Given the description of an element on the screen output the (x, y) to click on. 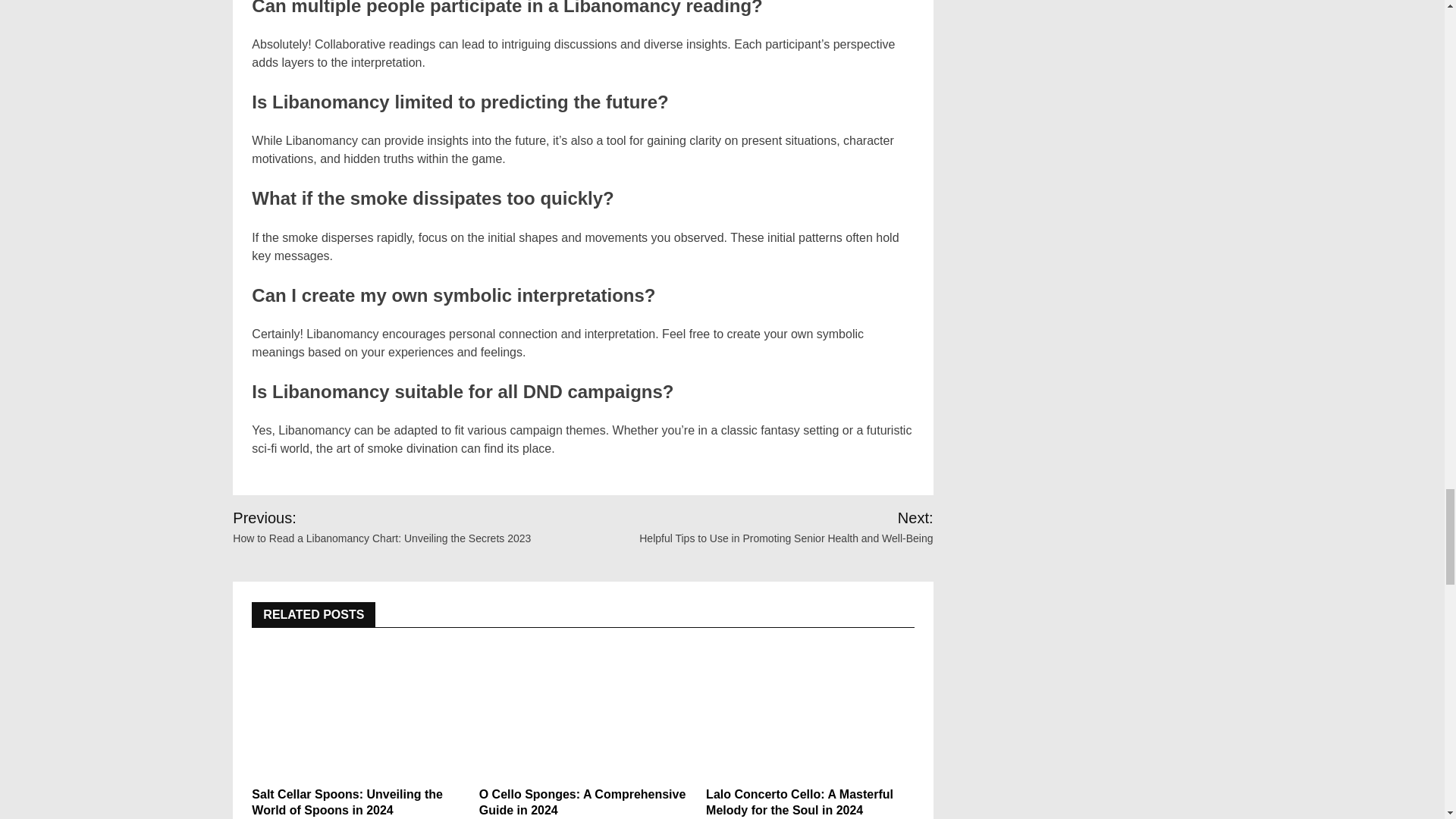
O Cello Sponges: A Comprehensive Guide in 2024 (583, 708)
Lalo Concerto Cello: A Masterful Melody for the Soul in 2024 (810, 708)
Salt Cellar Spoons: Unveiling the World of Spoons in 2024 (355, 708)
